Given the description of an element on the screen output the (x, y) to click on. 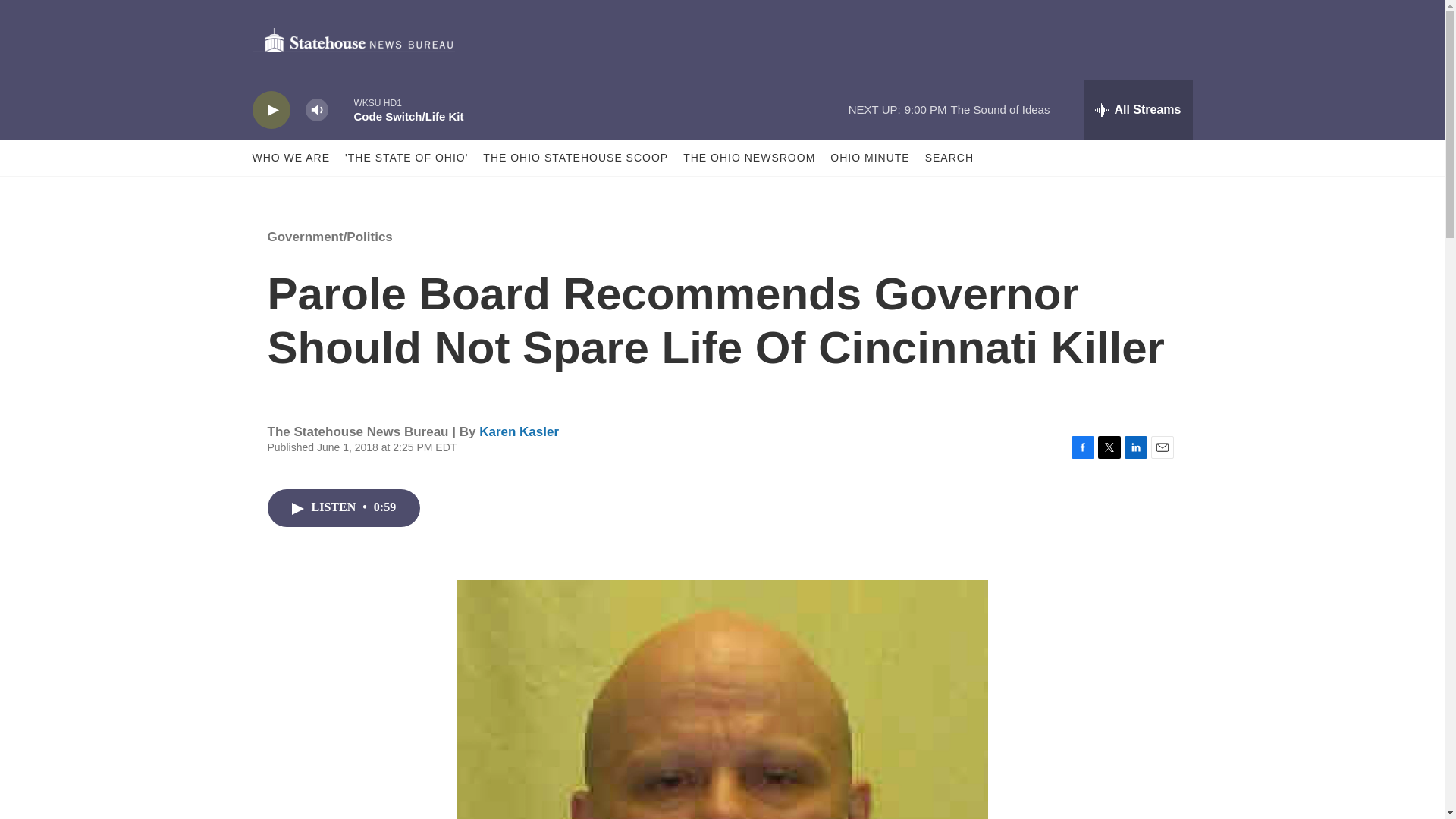
LinkedIn (1135, 446)
WHO WE ARE (290, 158)
All Streams (1137, 109)
Twitter (1109, 446)
Facebook (1081, 446)
THE OHIO NEWSROOM (748, 158)
'THE STATE OF OHIO' (406, 158)
OHIO MINUTE (868, 158)
Karen Kasler (519, 431)
THE OHIO STATEHOUSE SCOOP (575, 158)
SEARCH (949, 158)
Email (1162, 446)
